Given the description of an element on the screen output the (x, y) to click on. 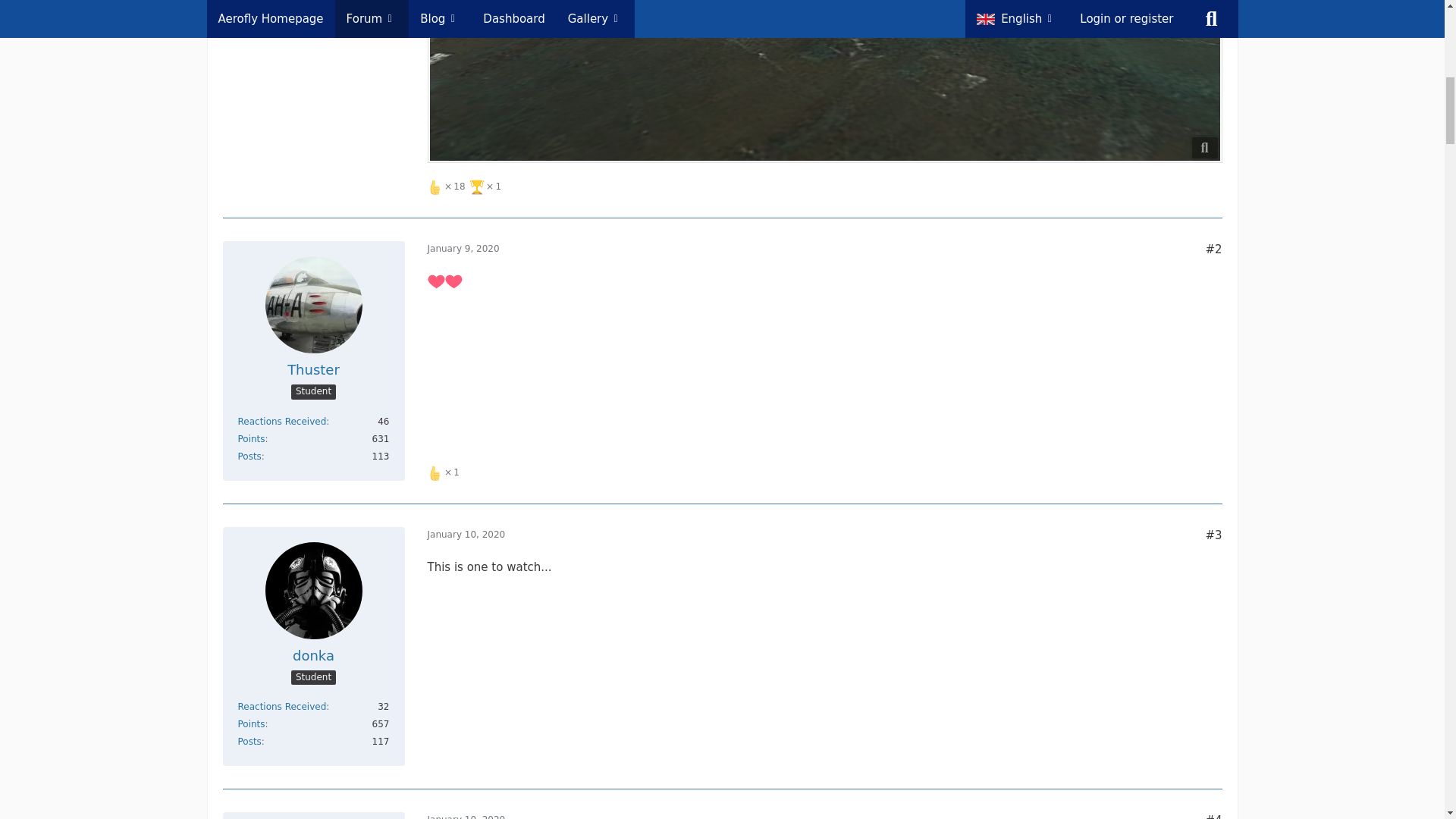
Preview 1.jpg (825, 81)
heart (436, 281)
heart (452, 281)
